Given the description of an element on the screen output the (x, y) to click on. 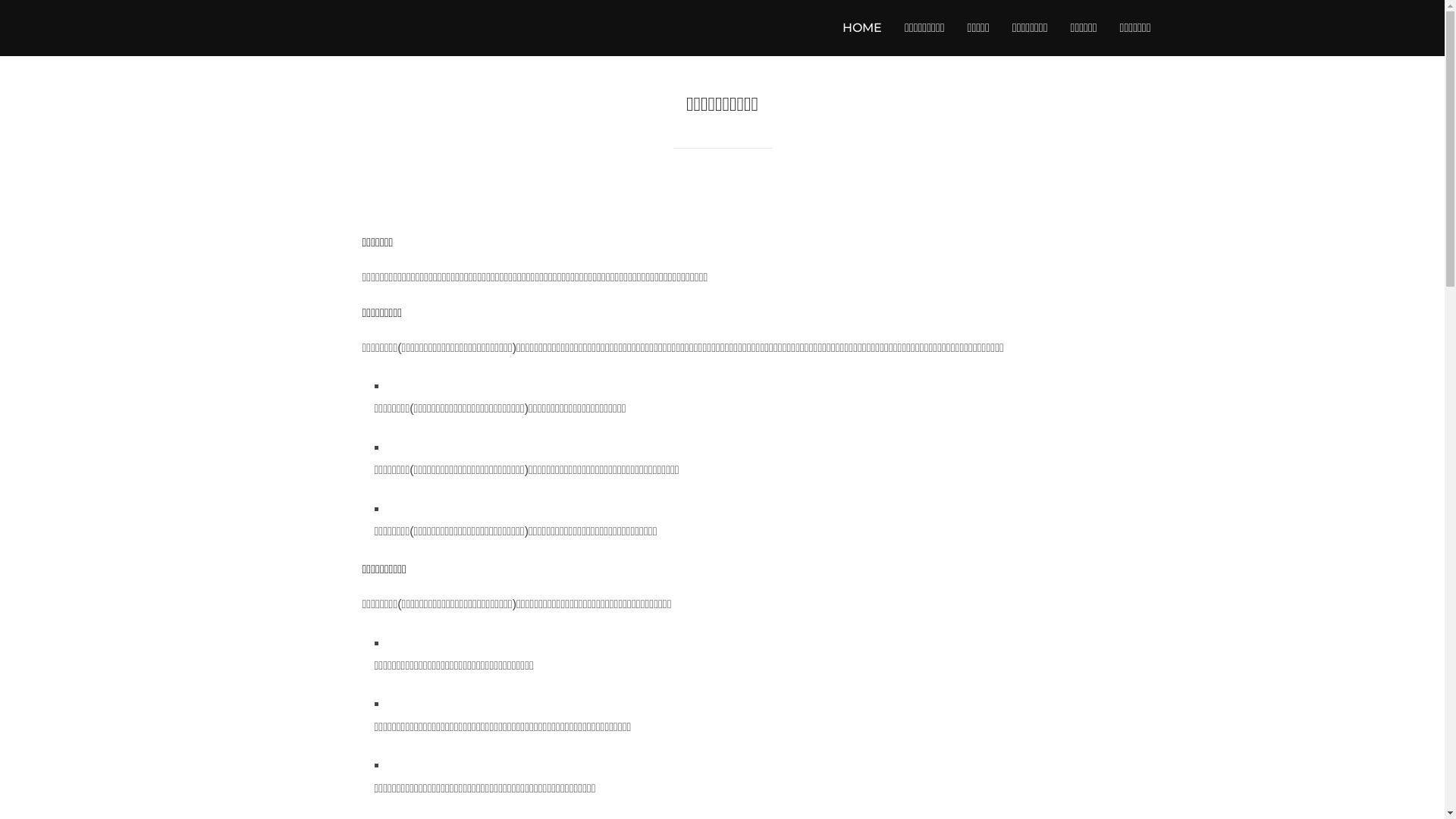
HOME Element type: text (861, 27)
